Given the description of an element on the screen output the (x, y) to click on. 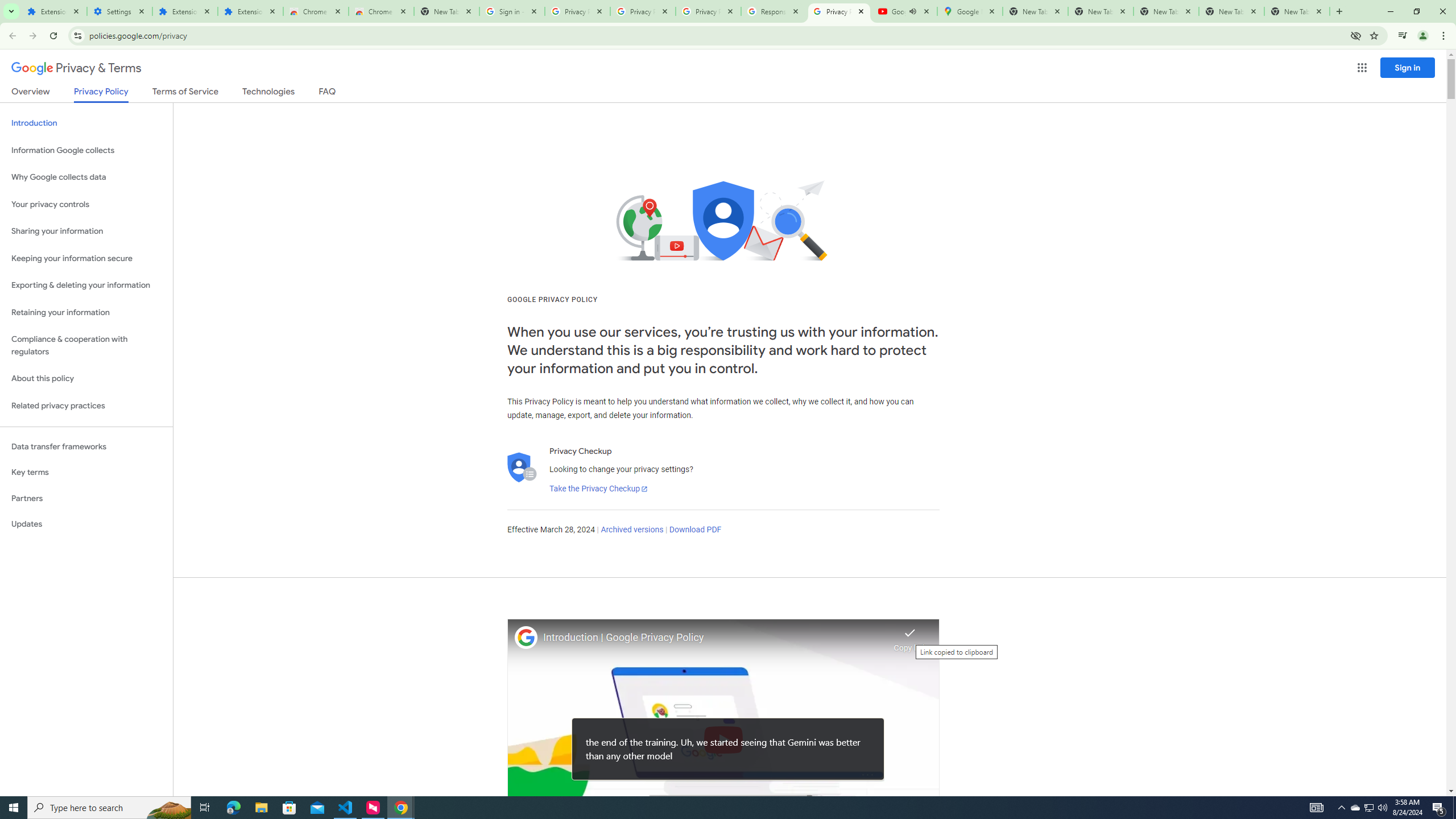
Related privacy practices (86, 405)
FAQ (327, 93)
Your privacy controls (86, 204)
Introduction | Google Privacy Policy (715, 637)
About this policy (86, 379)
Download PDF (695, 529)
Privacy Policy (100, 94)
Compliance & cooperation with regulators (86, 345)
New Tab (446, 11)
